Given the description of an element on the screen output the (x, y) to click on. 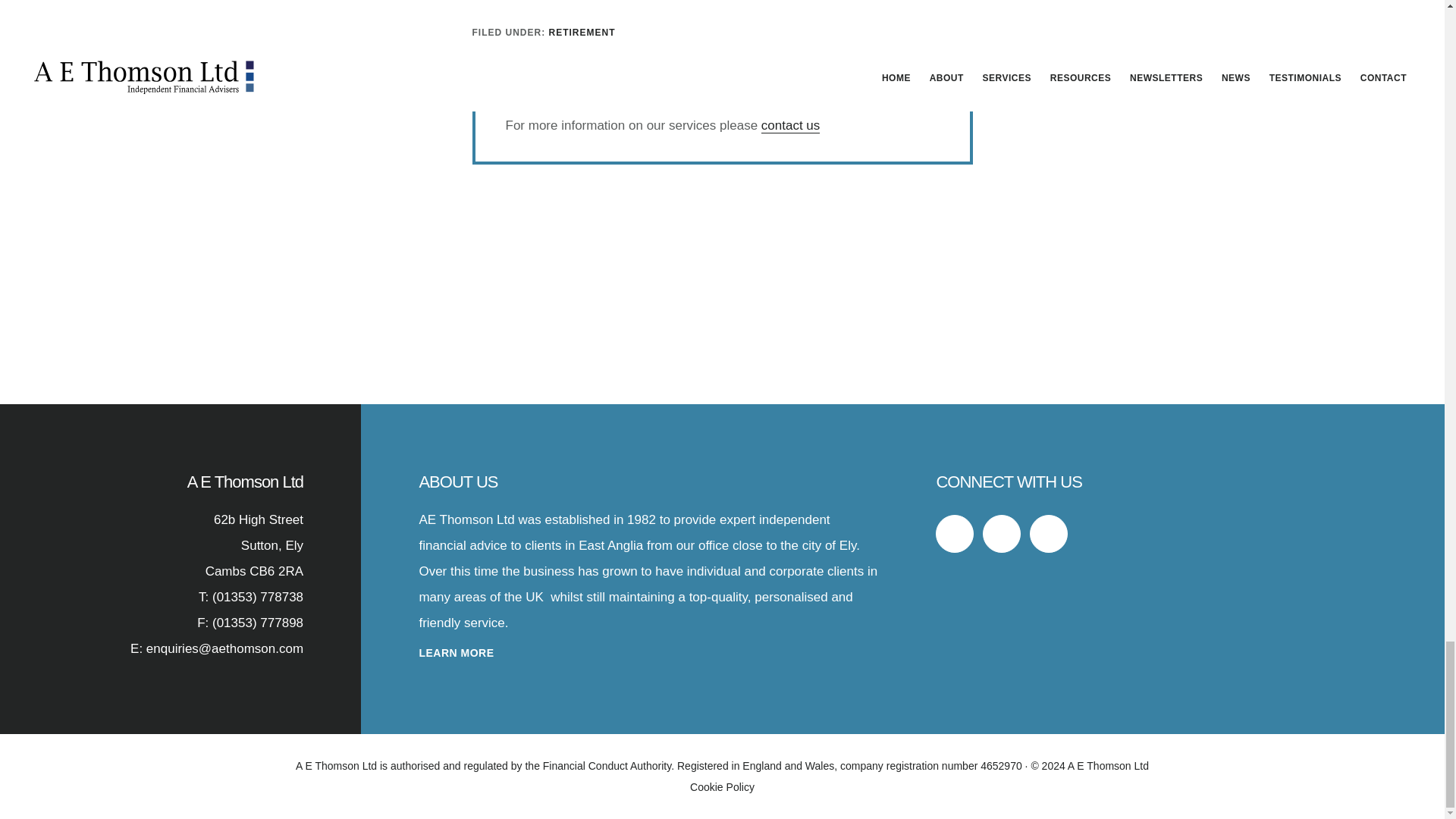
contact us (791, 125)
RETIREMENT (581, 32)
LEARN MORE (456, 653)
